Given the description of an element on the screen output the (x, y) to click on. 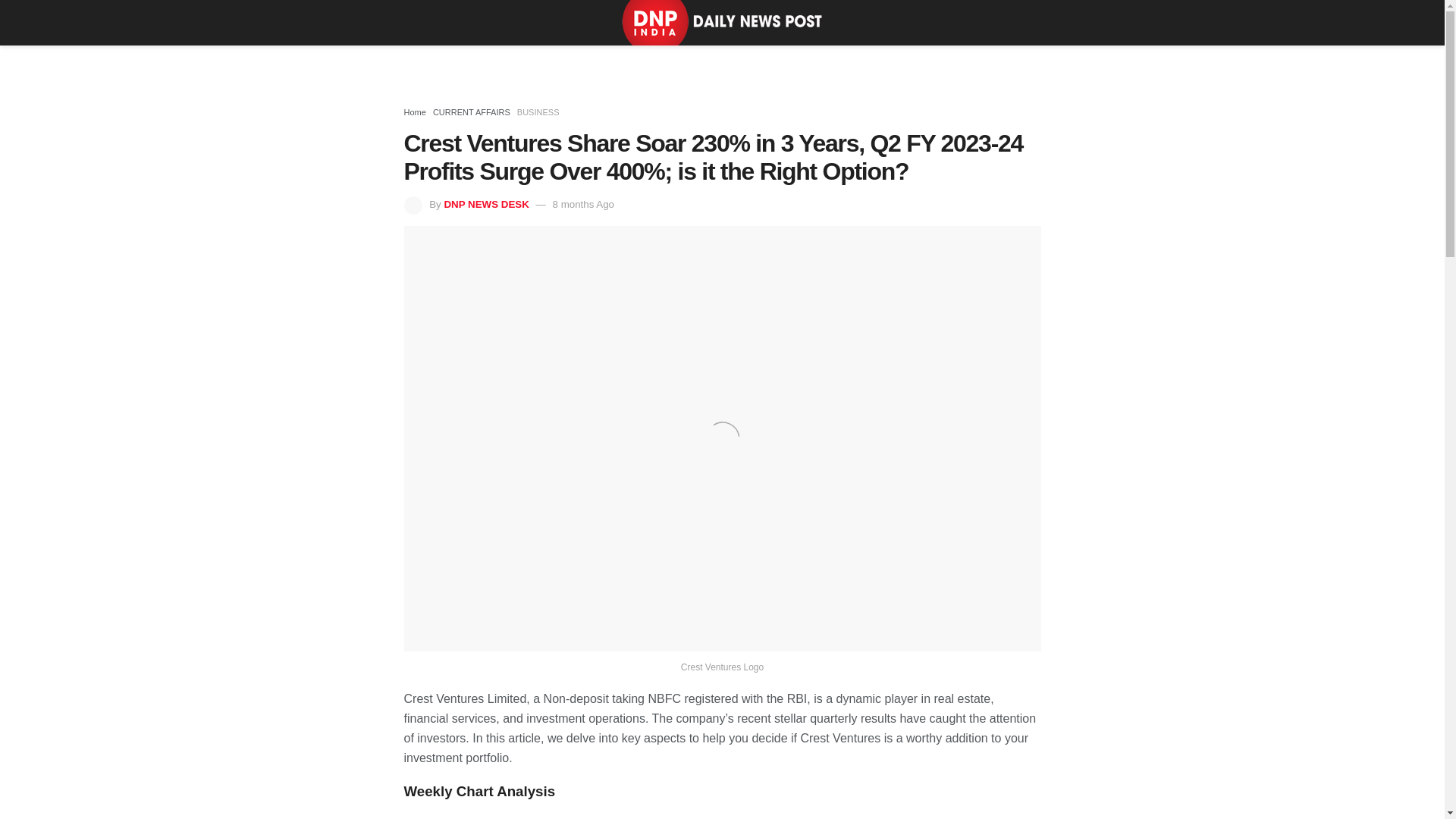
Home (414, 112)
DNP NEWS DESK (486, 204)
CURRENT AFFAIRS (471, 112)
BUSINESS (537, 112)
